Given the description of an element on the screen output the (x, y) to click on. 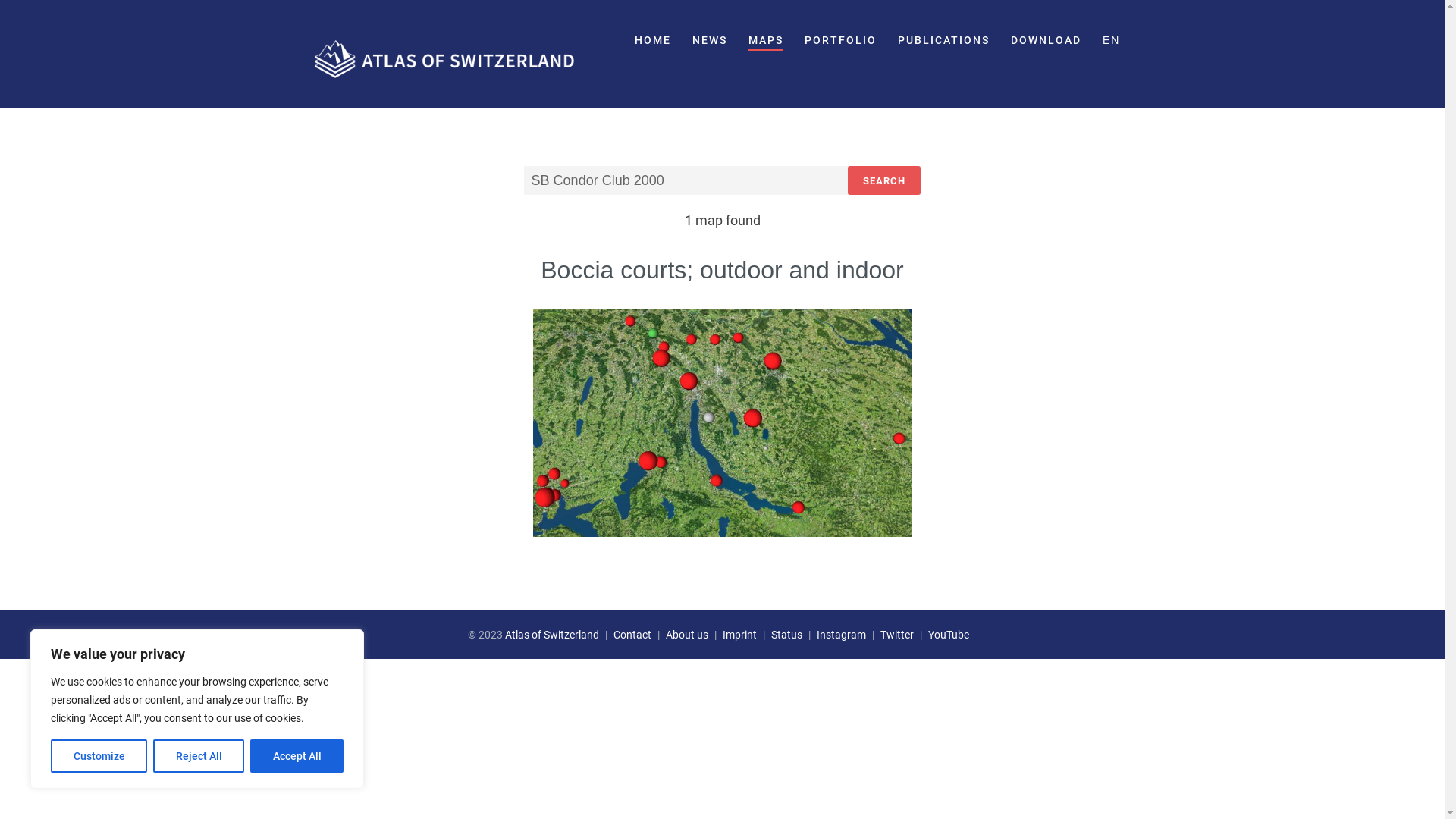
About us Element type: text (686, 634)
MAPS Element type: text (765, 40)
Instagram Element type: text (841, 634)
PUBLICATIONS Element type: text (943, 40)
Status Element type: text (786, 634)
Twitter Element type: text (896, 634)
Atlas of Switzerland Element type: hover (444, 55)
Imprint Element type: text (739, 634)
NEWS Element type: text (709, 40)
Atlas of Switzerland Element type: text (552, 634)
View map in the atlas Element type: hover (721, 422)
Contact Element type: text (632, 634)
Boccia courts; outdoor and indoor Element type: text (721, 269)
YouTube Element type: text (948, 634)
PORTFOLIO Element type: text (840, 40)
EN Element type: text (1111, 40)
DOWNLOAD Element type: text (1045, 40)
Search Element type: text (883, 180)
HOME Element type: text (652, 40)
SKIP TO CONTENT Element type: text (381, 34)
